Given the description of an element on the screen output the (x, y) to click on. 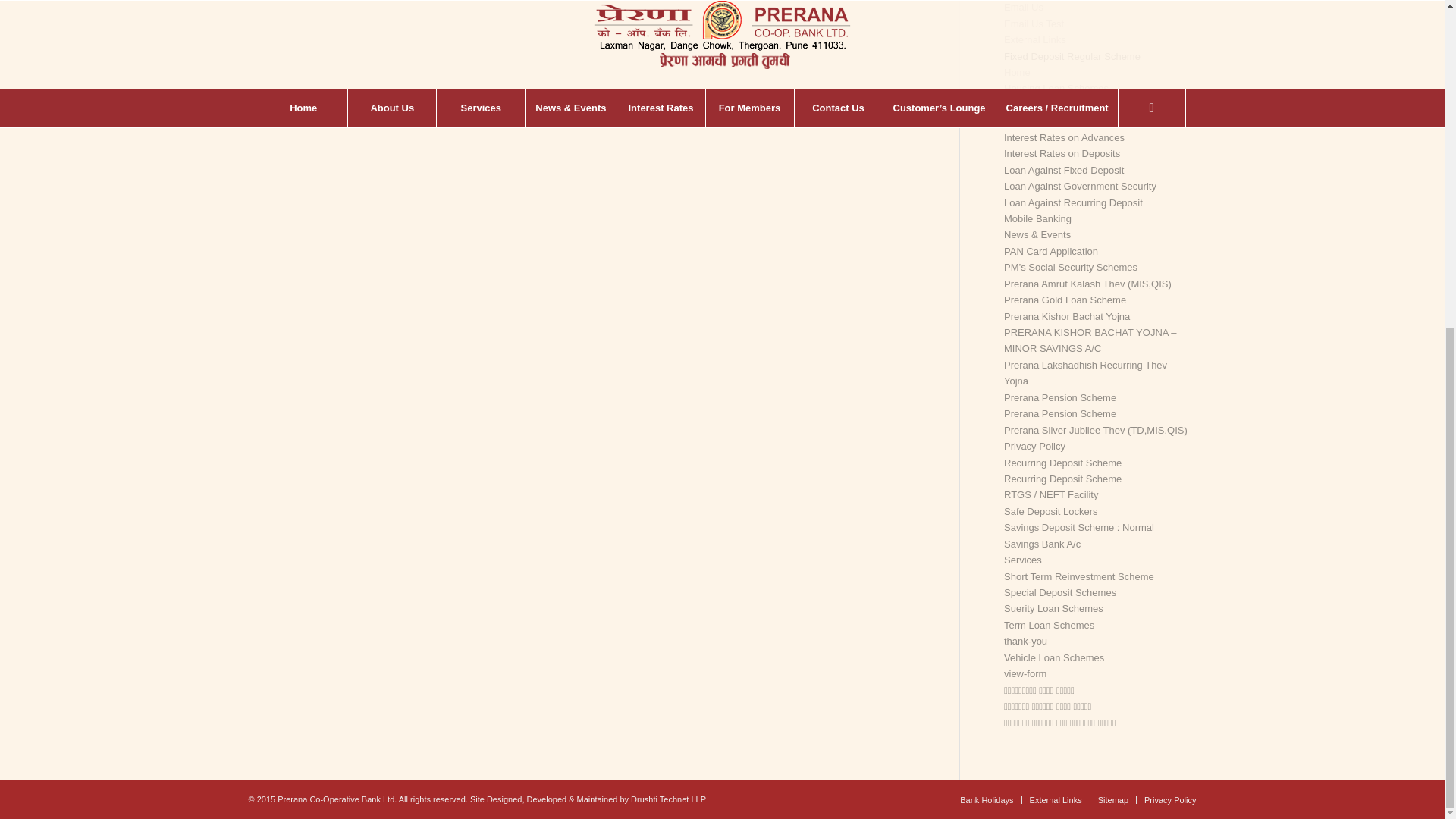
Email Us (1023, 7)
Email Us Test (1034, 23)
